Given the description of an element on the screen output the (x, y) to click on. 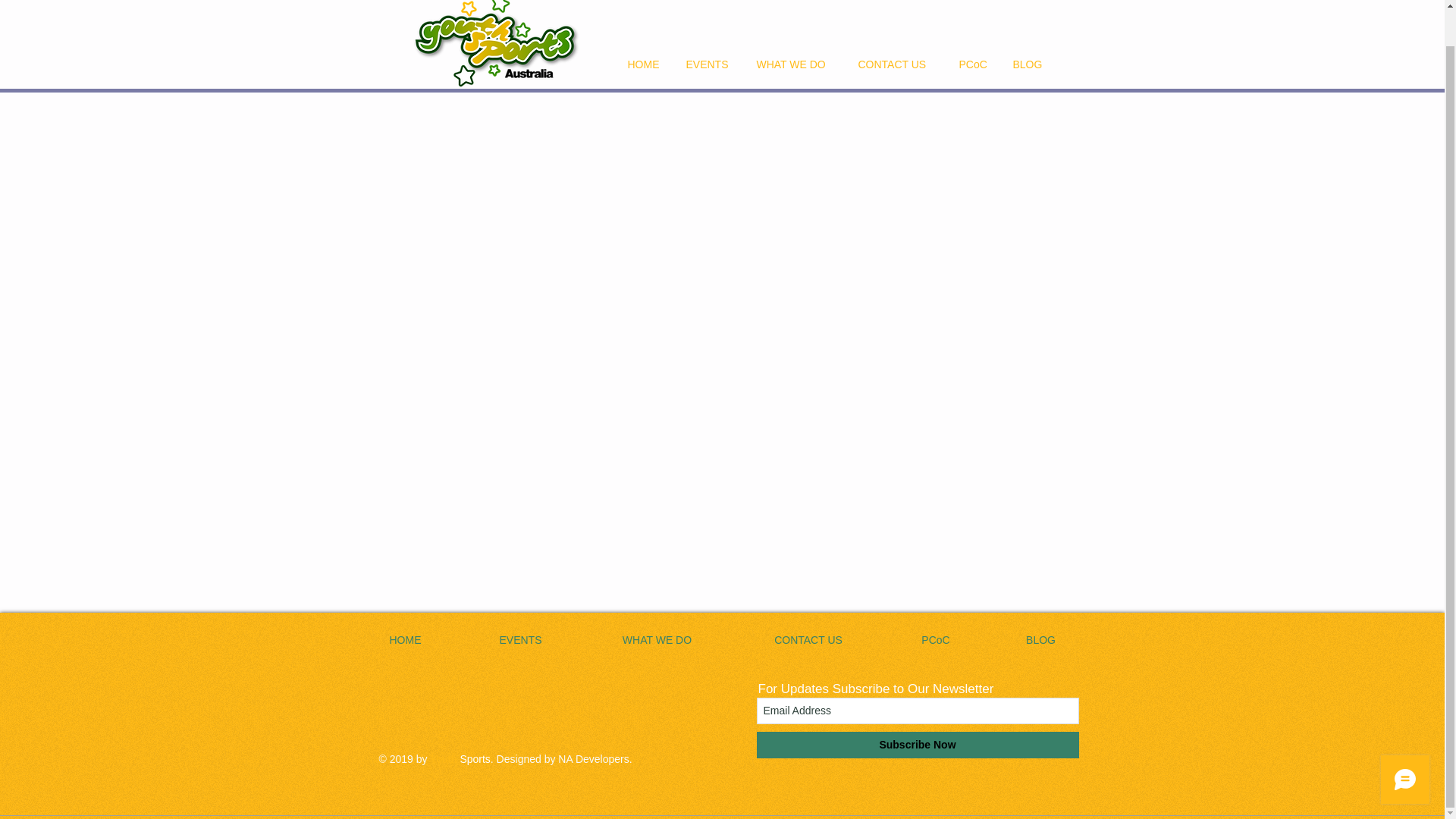
WHAT WE DO (794, 64)
WHAT WE DO (656, 639)
BLOG (1040, 639)
CONTACT US (807, 639)
EVENTS (520, 639)
PCoC (974, 64)
BLOG (1029, 64)
PCoC (935, 639)
Subscribe Now (917, 745)
HOME (405, 639)
HOME (644, 64)
EVENTS (710, 64)
CONTACT US (896, 64)
